Given the description of an element on the screen output the (x, y) to click on. 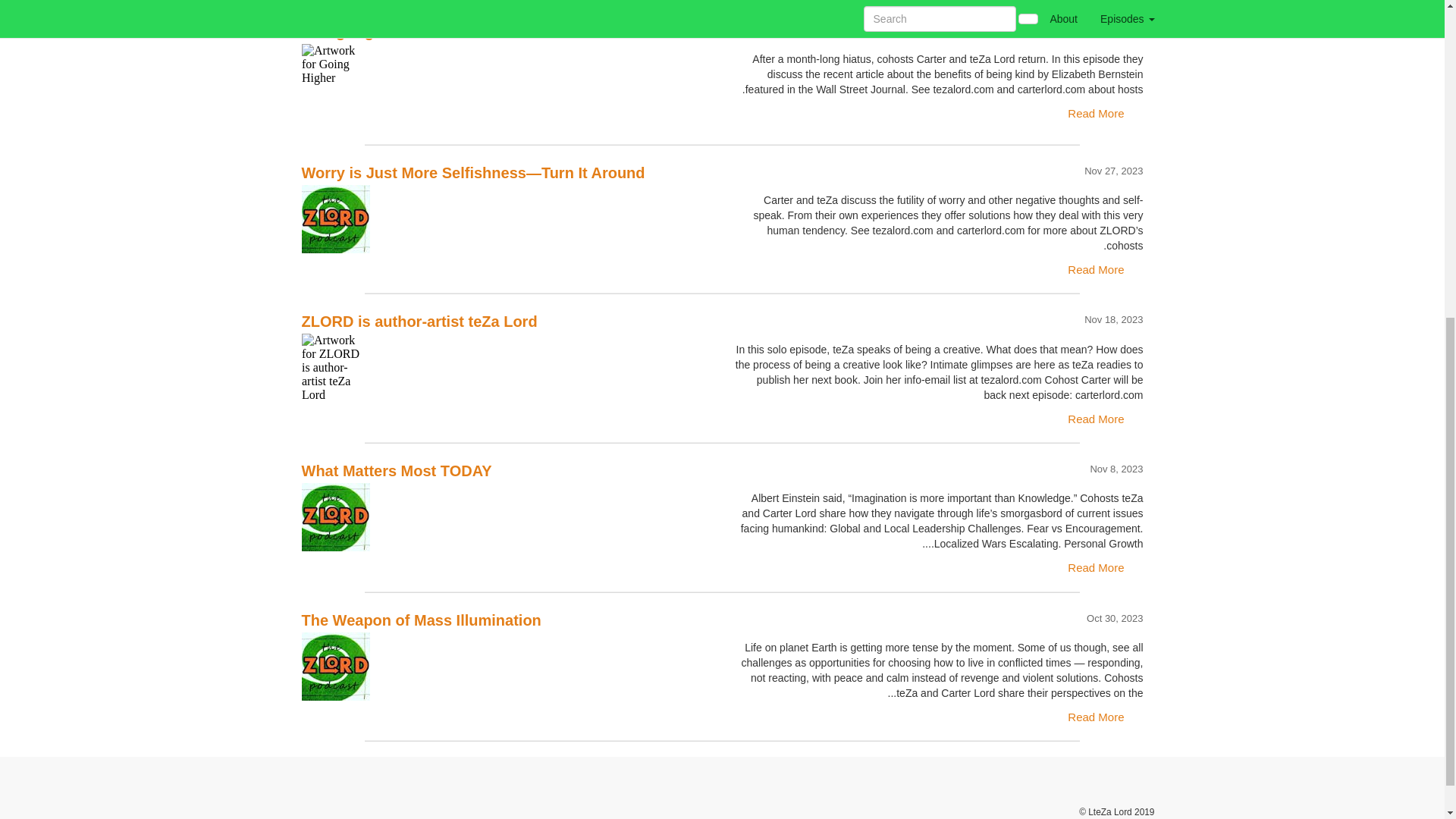
ZLORD is author-artist teZa Lord (506, 367)
The Weapon of Mass Illumination (506, 666)
Going Higher (506, 78)
What Matters Most TODAY (506, 517)
